Given the description of an element on the screen output the (x, y) to click on. 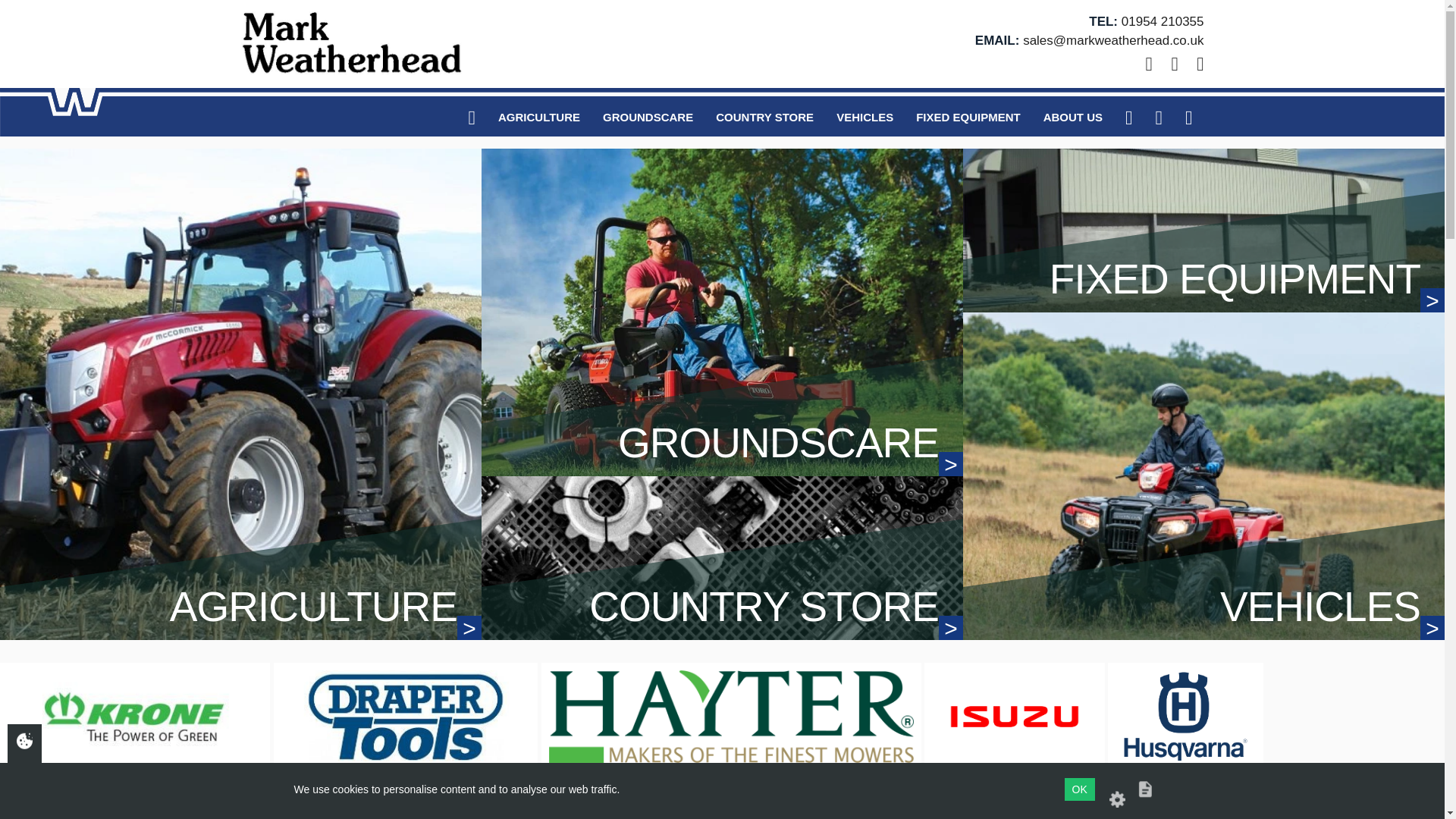
VEHICLES (864, 117)
ABOUT US (1072, 117)
COUNTRY STORE (721, 557)
GROUNDSCARE (647, 117)
AGRICULTURE (538, 117)
FIXED EQUIPMENT (968, 117)
01954 210355 (1162, 21)
COUNTRY STORE (764, 117)
